Given the description of an element on the screen output the (x, y) to click on. 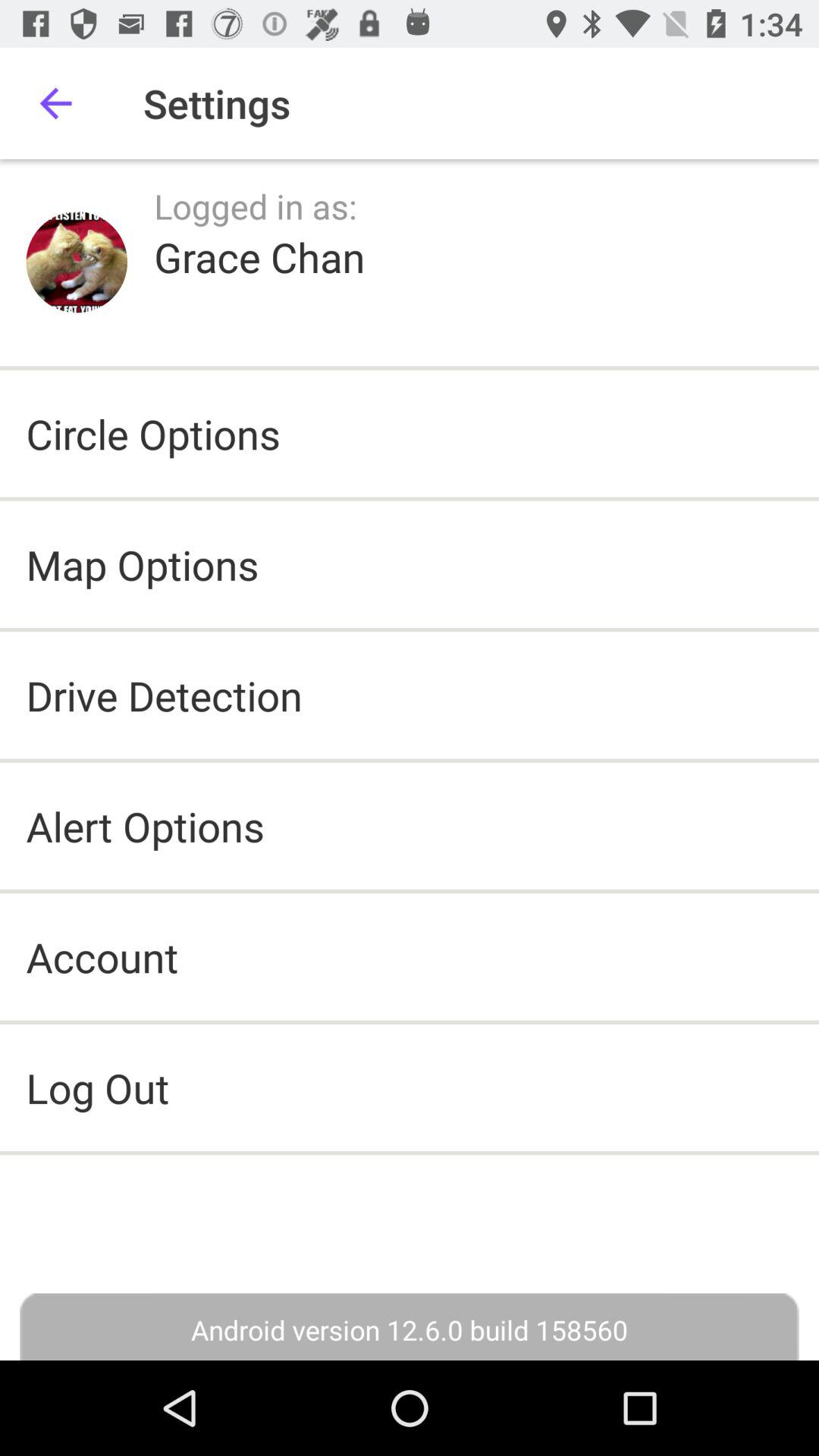
choose icon below the settings (255, 206)
